Given the description of an element on the screen output the (x, y) to click on. 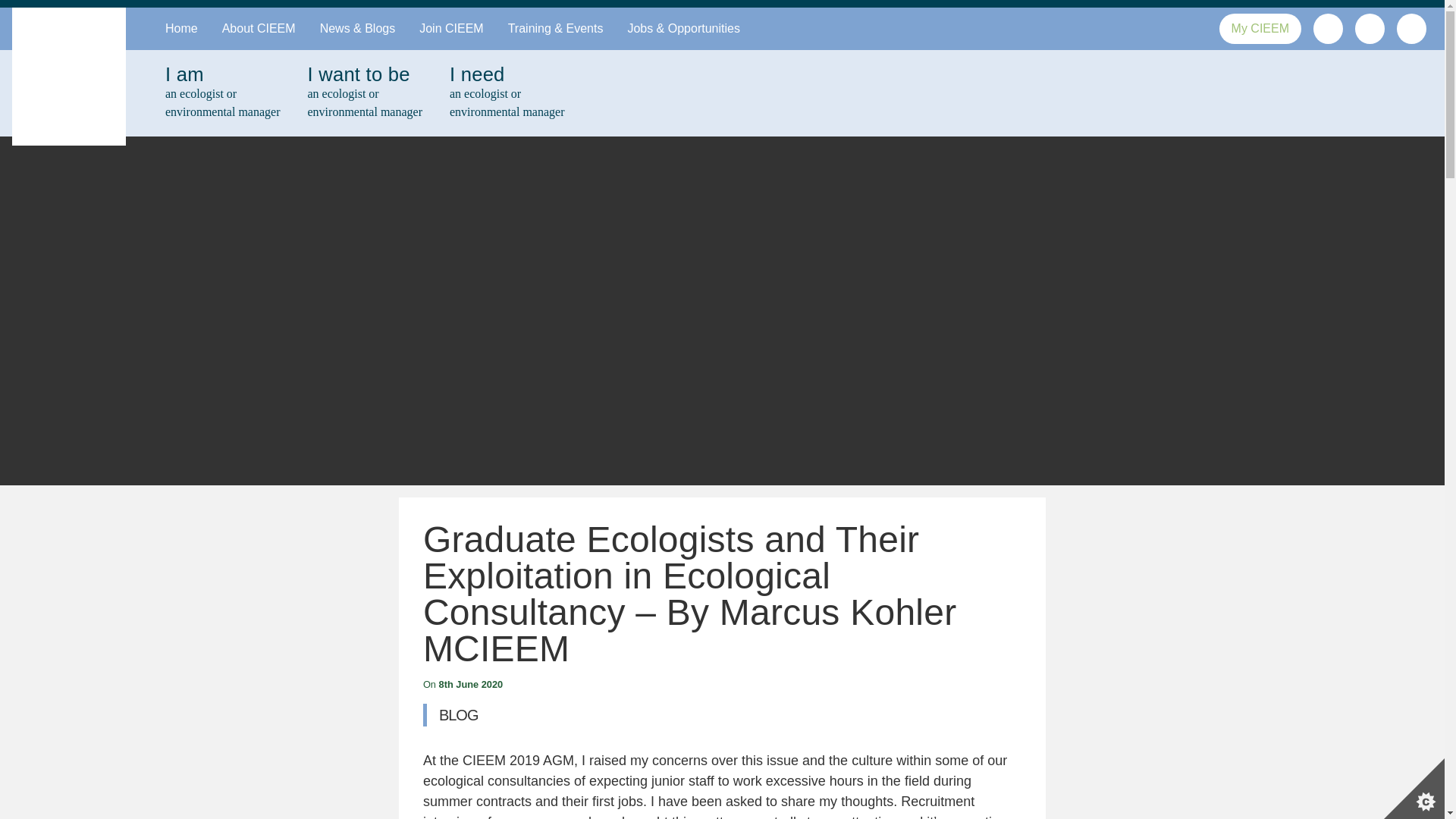
About CIEEM (258, 28)
Twitter (1327, 27)
Facebook (363, 92)
Linkedin (220, 92)
Join CIEEM (1411, 28)
Home (1369, 27)
Linkedin (451, 28)
